Given the description of an element on the screen output the (x, y) to click on. 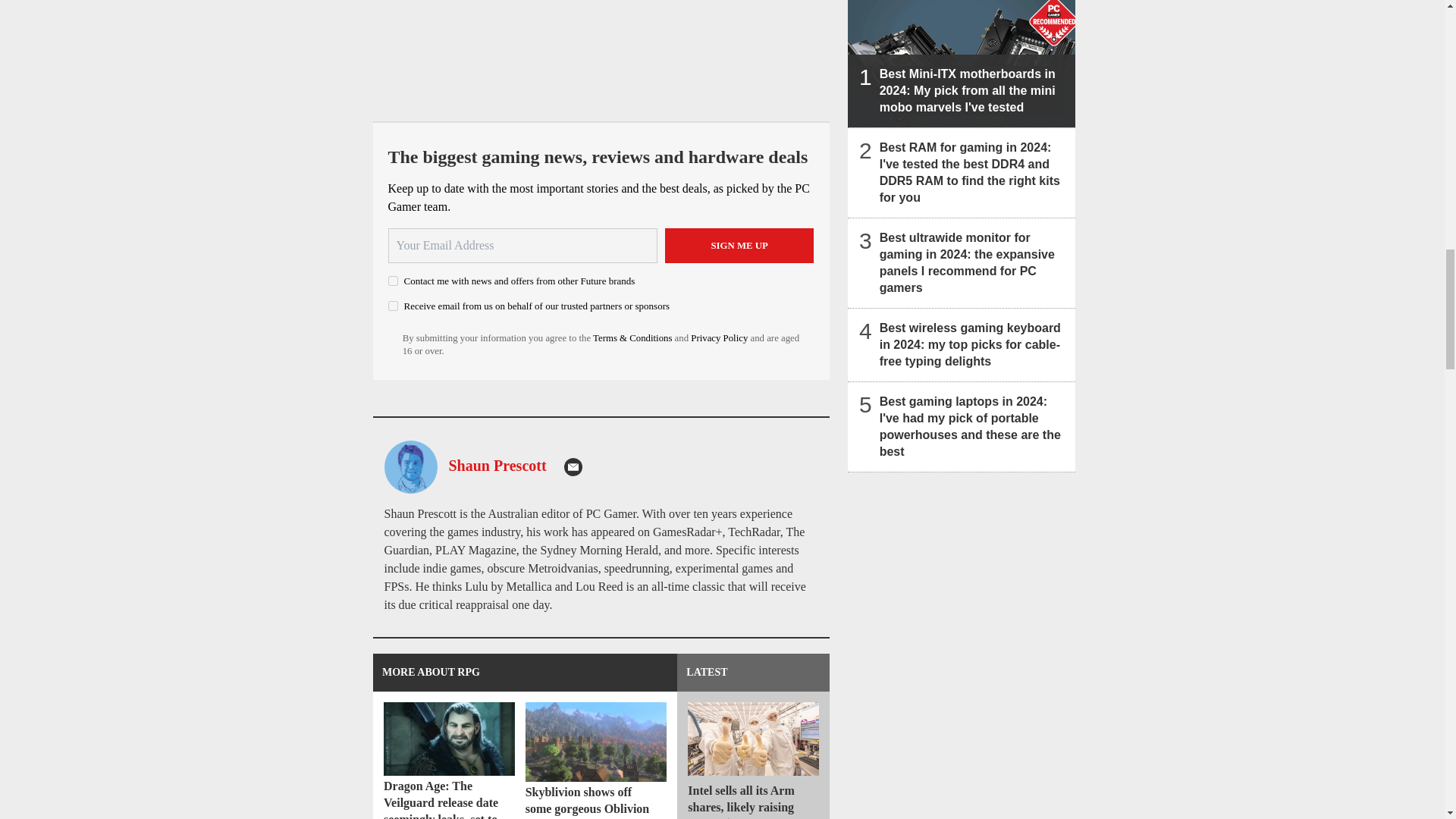
Sign me up (739, 245)
on (392, 306)
on (392, 280)
